Given the description of an element on the screen output the (x, y) to click on. 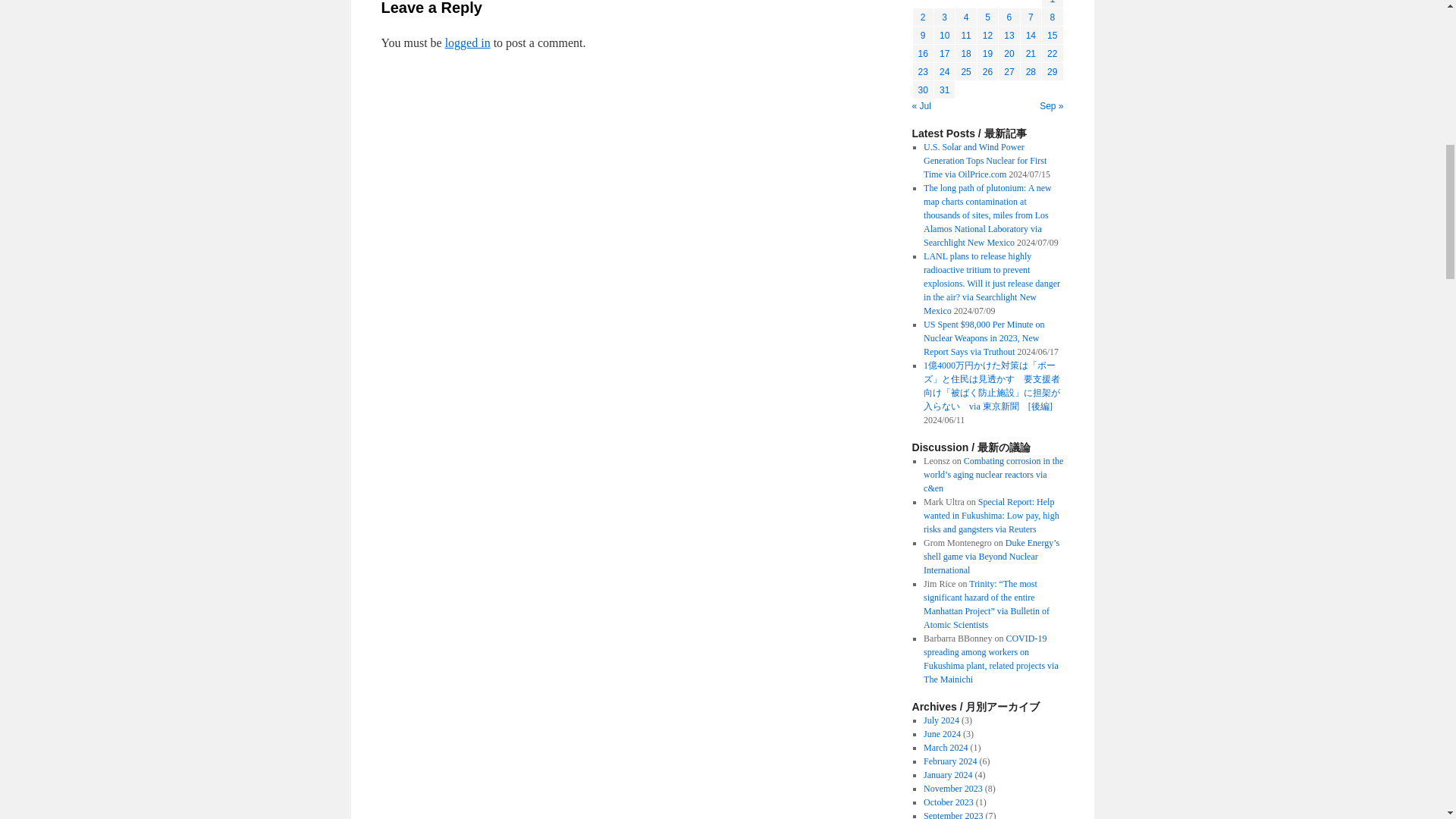
logged in (467, 42)
